Given the description of an element on the screen output the (x, y) to click on. 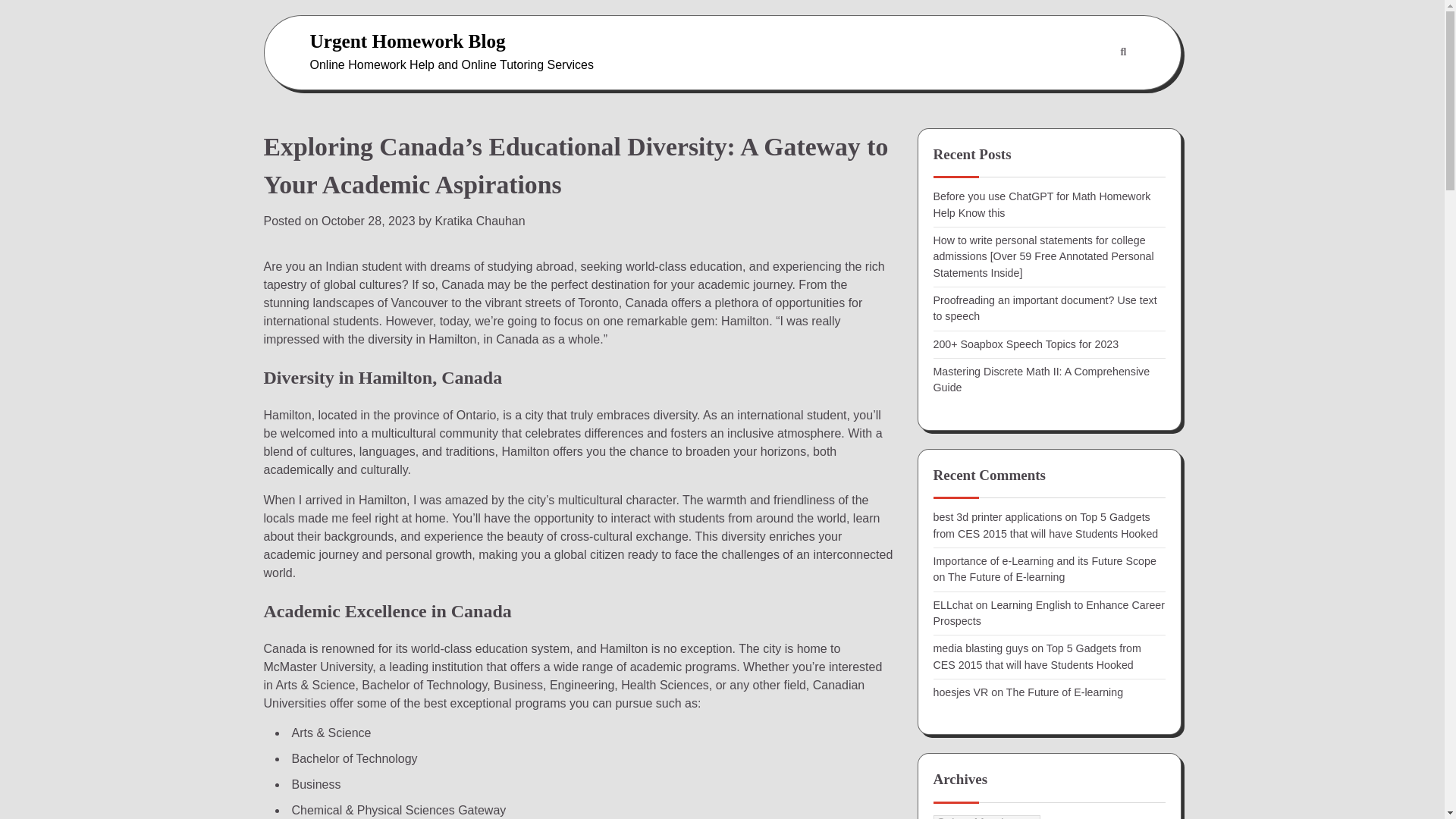
October 28, 2023 (367, 220)
Search (1123, 51)
The Future of E-learning (1005, 576)
Top 5 Gadgets from CES 2015 that will have Students Hooked (1036, 656)
The Future of E-learning (1064, 692)
Search (1086, 88)
ELLchat (952, 604)
Kratika Chauhan (478, 220)
Urgent Homework Blog (406, 40)
Importance of e-Learning and its Future Scope (1044, 561)
